Given the description of an element on the screen output the (x, y) to click on. 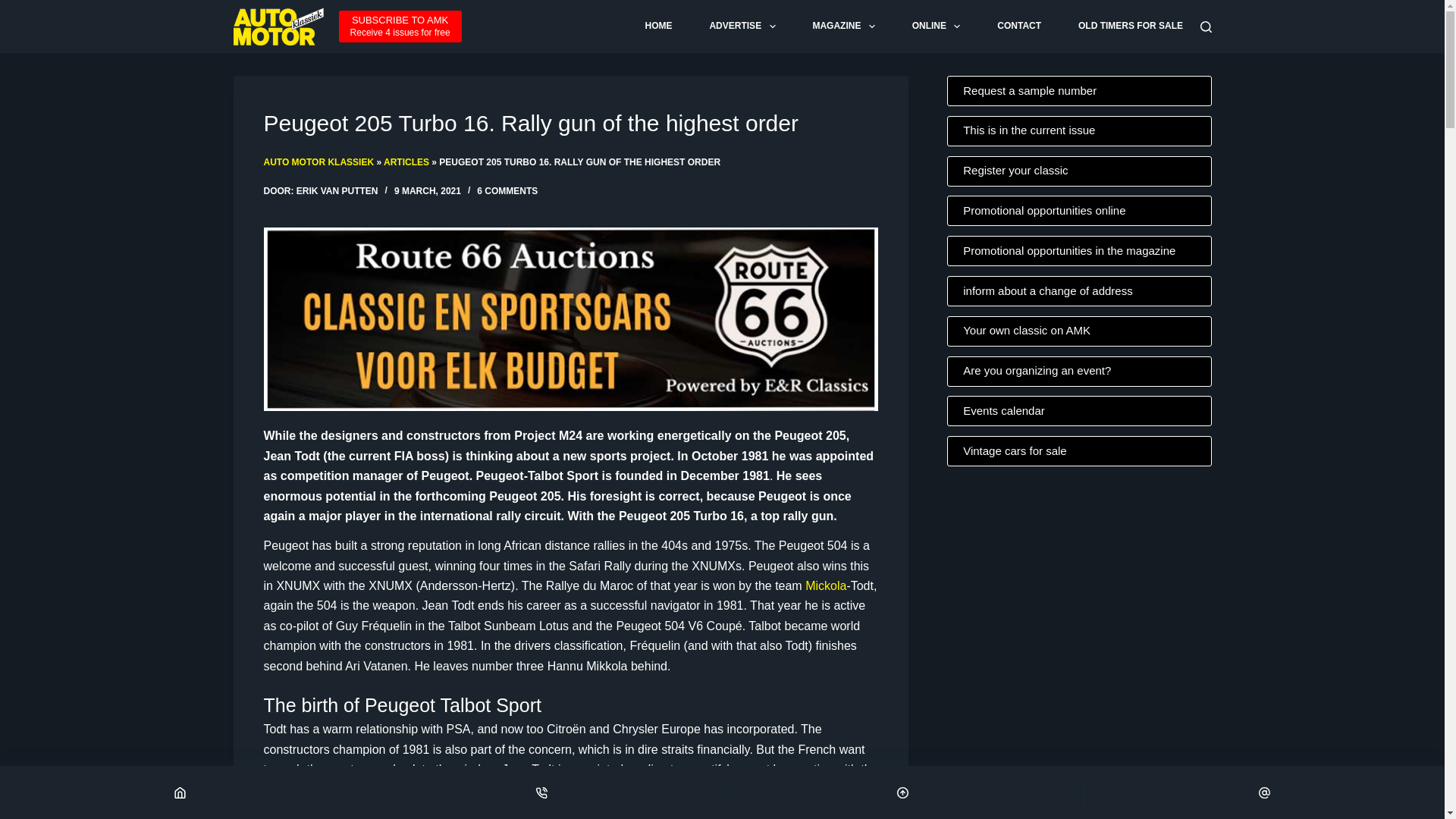
ADVERTISE (400, 26)
Online (742, 26)
Magazine (936, 26)
MAGAZINE (843, 26)
Peugeot 205 Turbo 16. Rallykanon van de bovenste plank (843, 26)
Go to the content (570, 123)
Messages by Erik van Putten (15, 7)
